Given the description of an element on the screen output the (x, y) to click on. 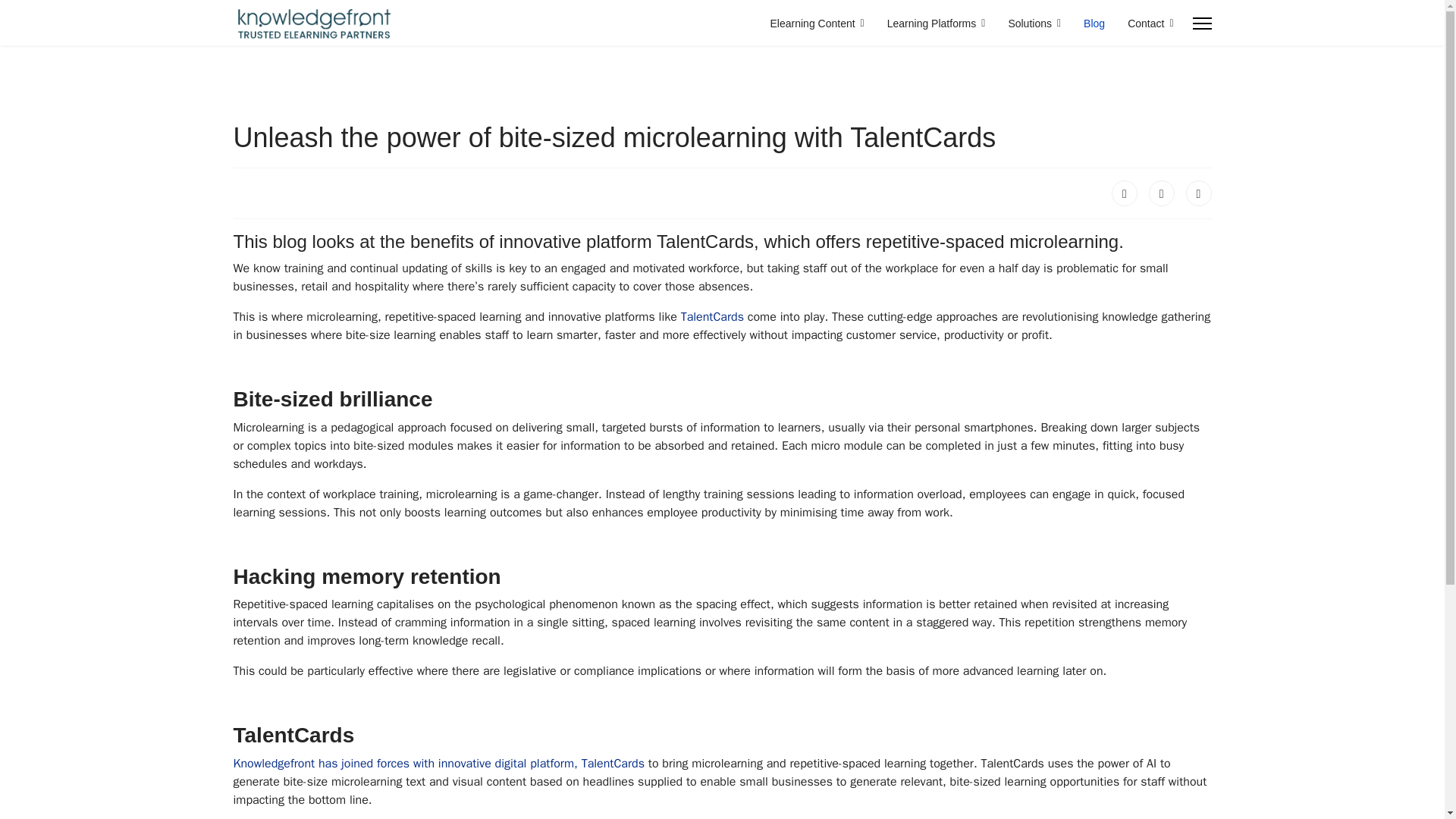
Blog (1093, 22)
Elearning Content (817, 22)
TalentCards (712, 316)
Contact (1144, 22)
Learning Platforms (936, 22)
Solutions (1033, 22)
